Given the description of an element on the screen output the (x, y) to click on. 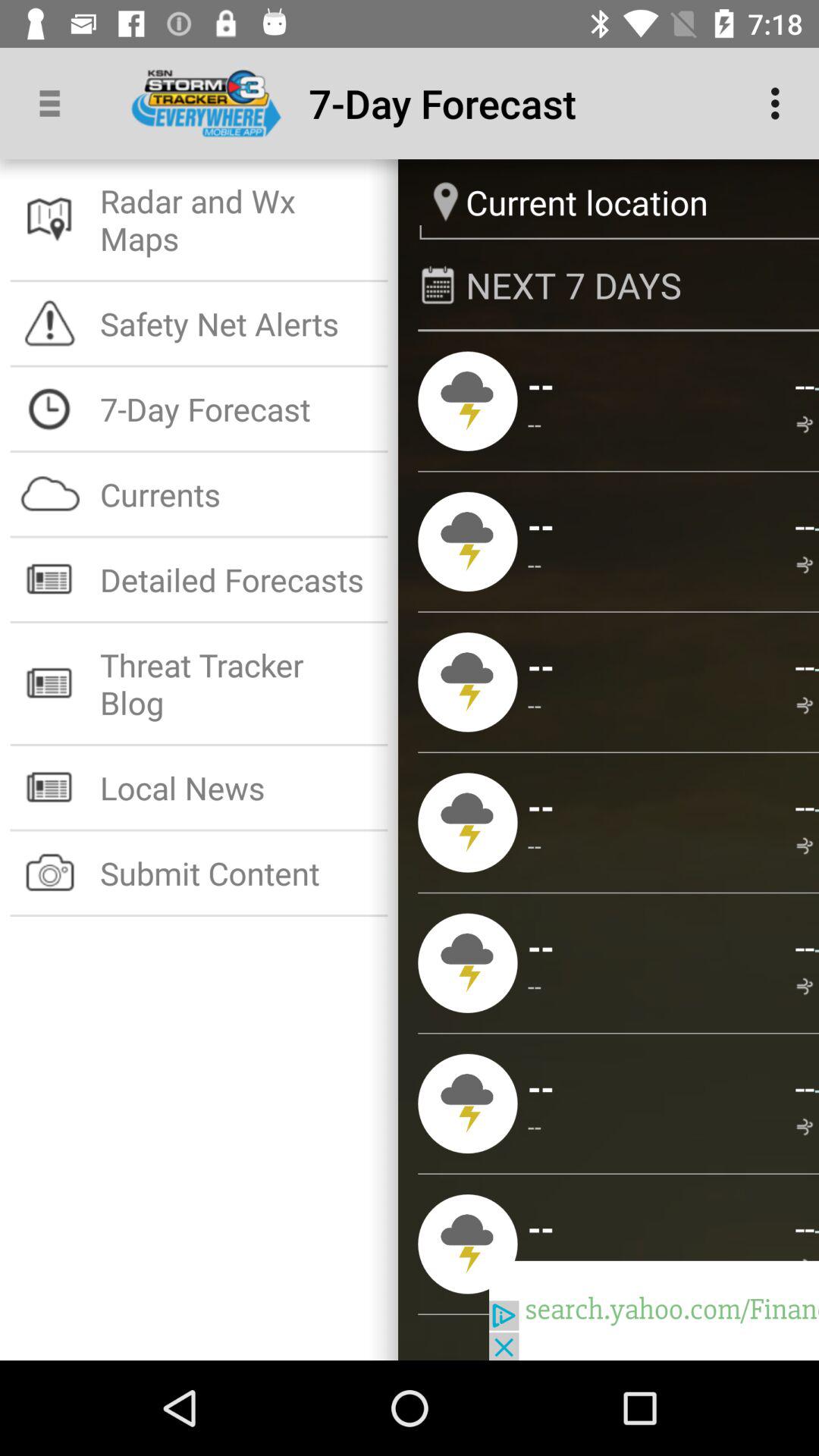
turn off app above the radar and wx app (55, 103)
